Given the description of an element on the screen output the (x, y) to click on. 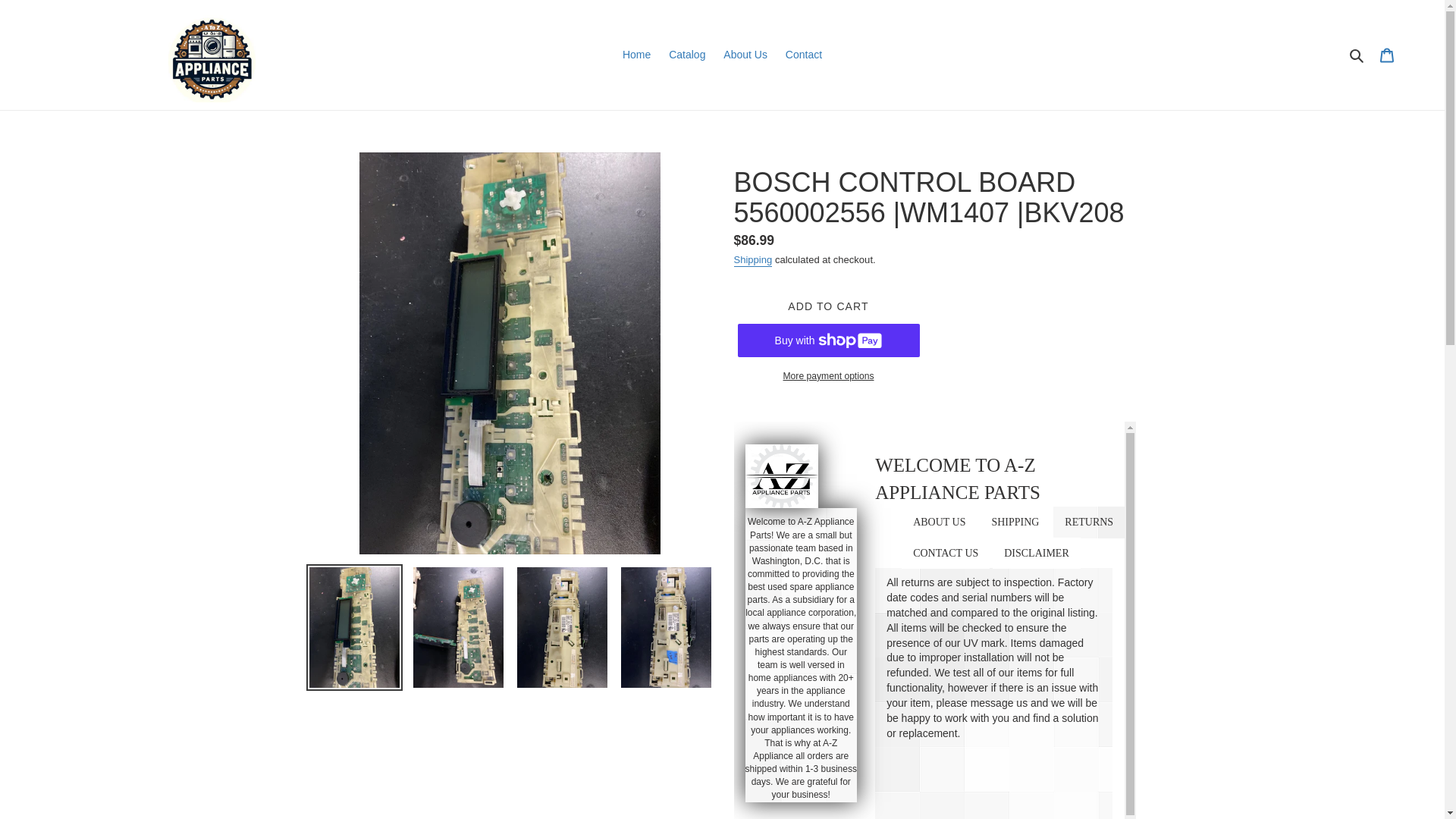
ADD TO CART (827, 306)
More payment options (827, 376)
Shipping (753, 259)
Home (636, 55)
Catalog (687, 55)
Cart (1387, 54)
Search (1357, 54)
Contact (803, 55)
About Us (745, 55)
